Given the description of an element on the screen output the (x, y) to click on. 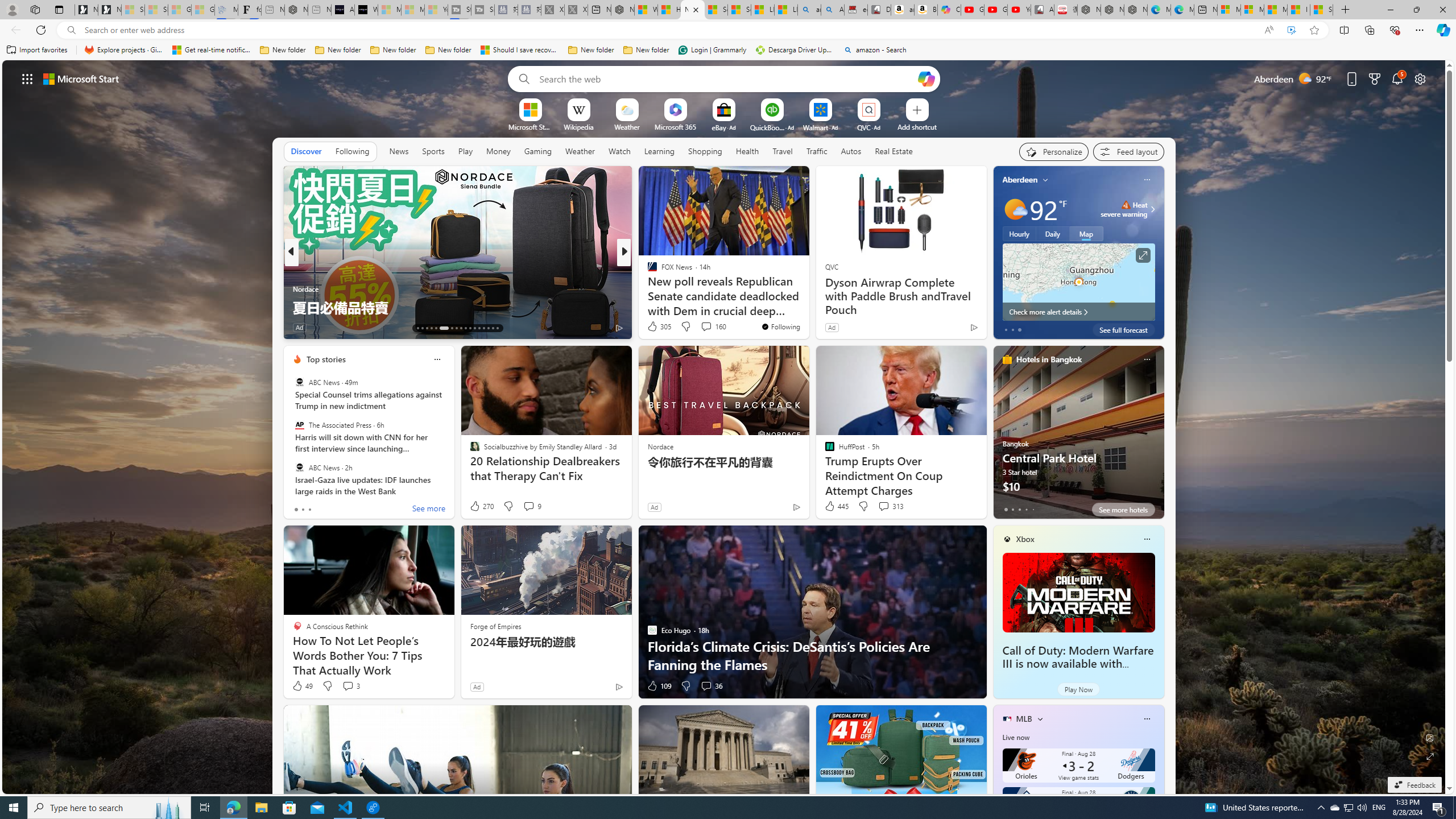
tab-2 (1019, 509)
Enhance video (1291, 29)
View comments 160 Comment (712, 326)
AutomationID: tab-19 (451, 328)
Page settings (1420, 78)
Thrift My Life (647, 270)
305 Like (658, 326)
View comments 61 Comment (6, 327)
View comments 3 Comment (350, 685)
Hotels in Bangkok (1048, 359)
AutomationID: tab-22 (465, 328)
